Given the description of an element on the screen output the (x, y) to click on. 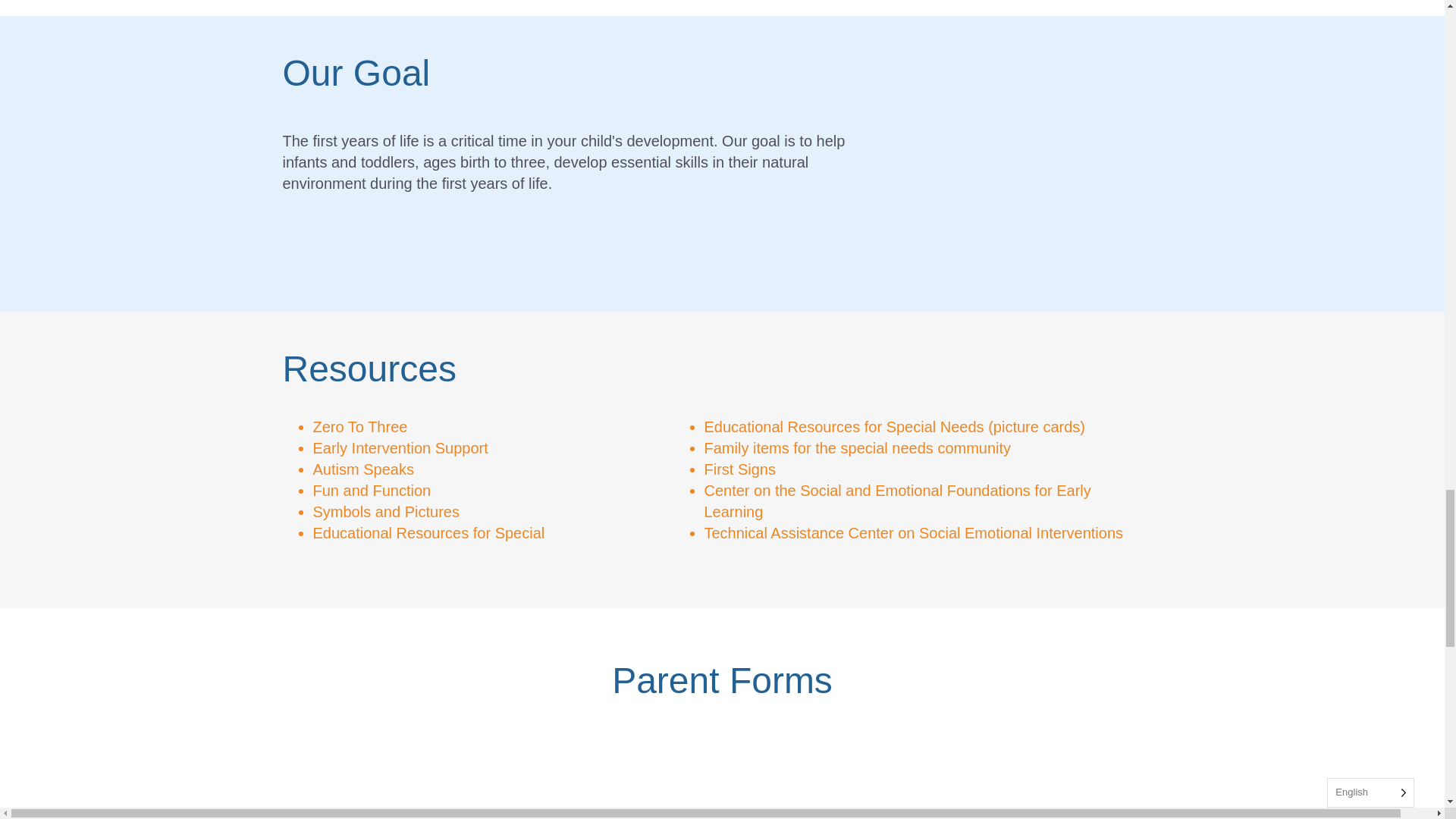
pennsylvania (1017, 773)
Autism Speaks (363, 469)
Illinois (721, 773)
Delaware (426, 773)
HowChildrenDevelop2 (1024, 163)
Symbols and Pictures (385, 511)
Fun and Function (371, 490)
Zero To Three (360, 426)
Early Intervention Support (400, 447)
